Given the description of an element on the screen output the (x, y) to click on. 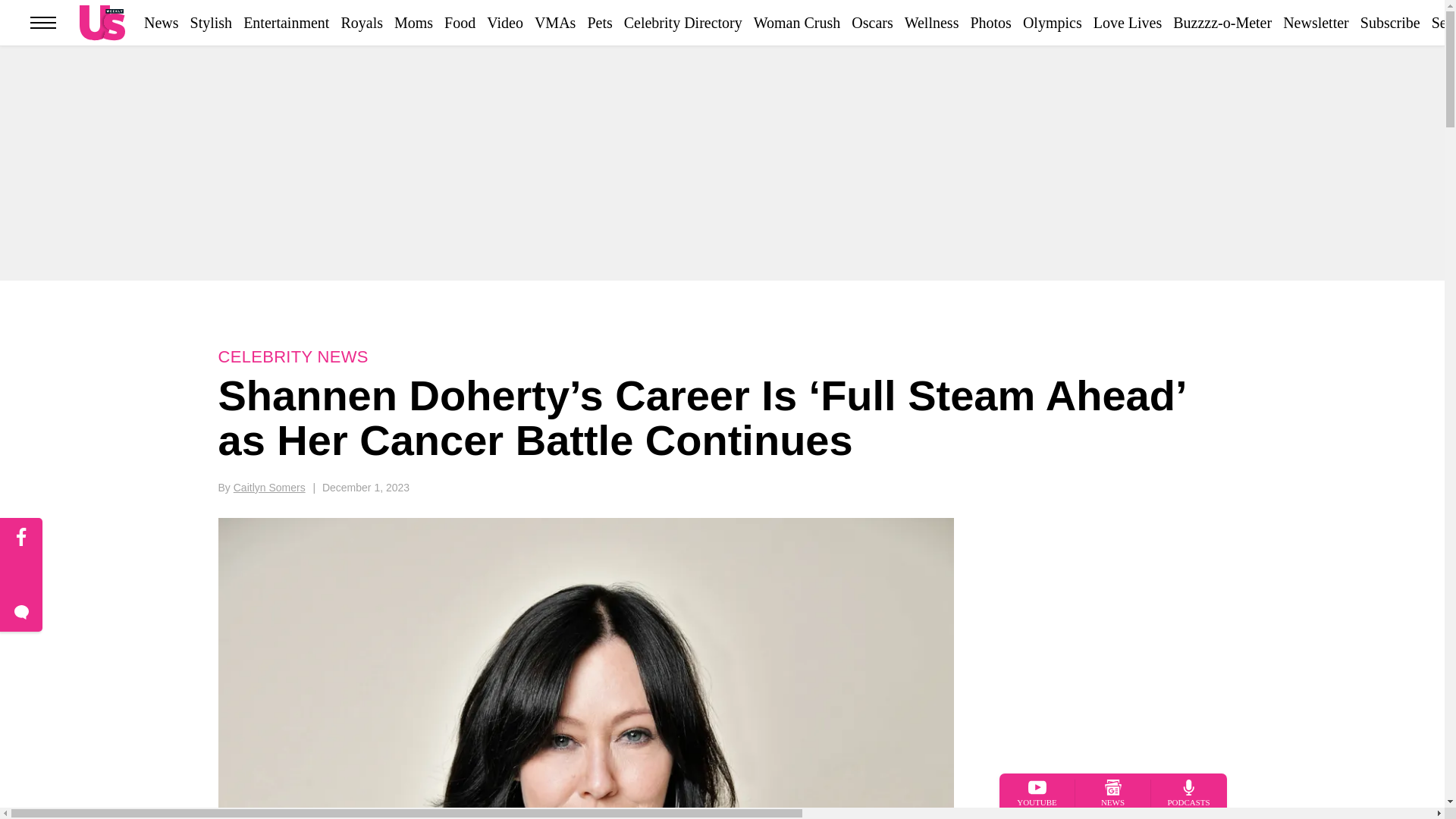
Click to share on Facebook (21, 537)
Stylish (211, 22)
Royals (361, 22)
Click to share on Twitter (21, 575)
News (161, 22)
Entertainment (286, 22)
Us Weekly Magazine (102, 22)
Moms (413, 22)
Posts by Caitlyn Somers (268, 487)
Food (460, 22)
